Given the description of an element on the screen output the (x, y) to click on. 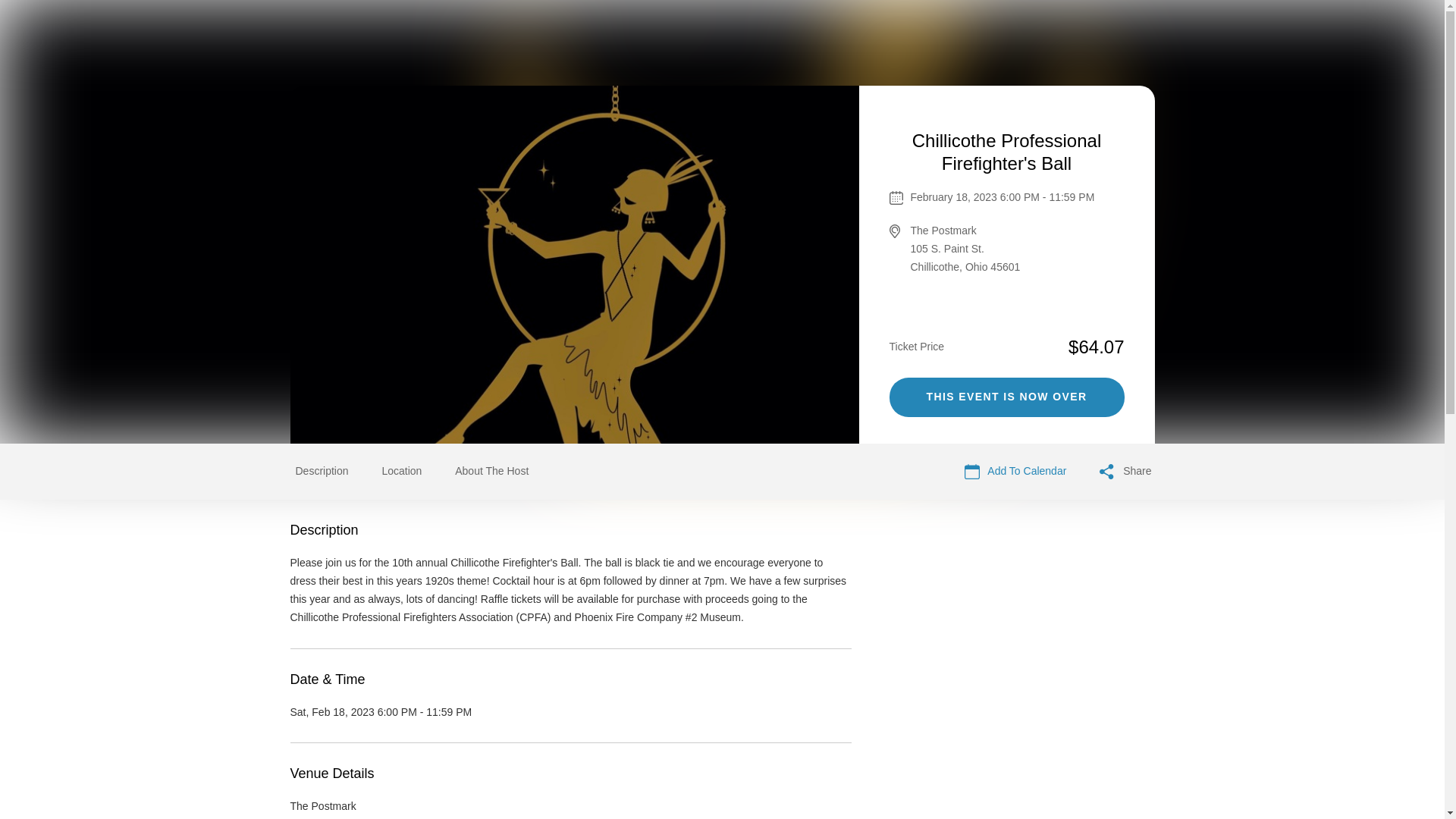
Location (401, 471)
Description (322, 470)
Add To Calendar (1014, 471)
Add To Calendar (1014, 471)
Location (401, 470)
About The Host (491, 470)
About The Host (491, 471)
Description (322, 471)
Share (1125, 471)
